Given the description of an element on the screen output the (x, y) to click on. 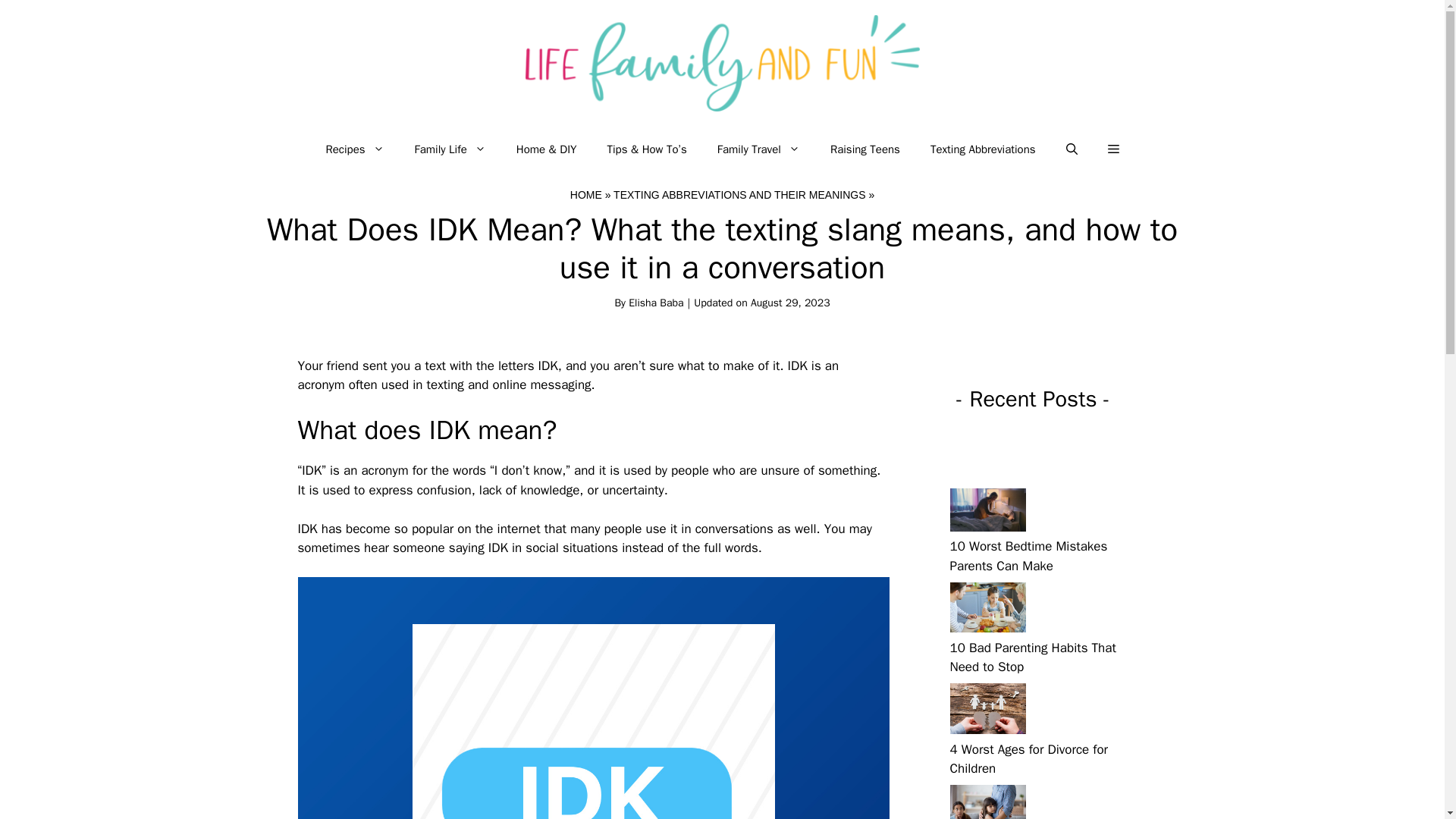
Raising Teens (865, 148)
Elisha Baba (655, 302)
TEXTING ABBREVIATIONS AND THEIR MEANINGS (738, 194)
Family Travel (758, 148)
Texting Abbreviations (983, 148)
10 Worst Bedtime Mistakes Parents Can Make (1027, 556)
Family Life (449, 148)
HOME (586, 194)
Recipes (354, 148)
10 Bad Parenting Habits That Need to Stop (1032, 657)
4 Worst Ages for Divorce for Children (1028, 759)
